Given the description of an element on the screen output the (x, y) to click on. 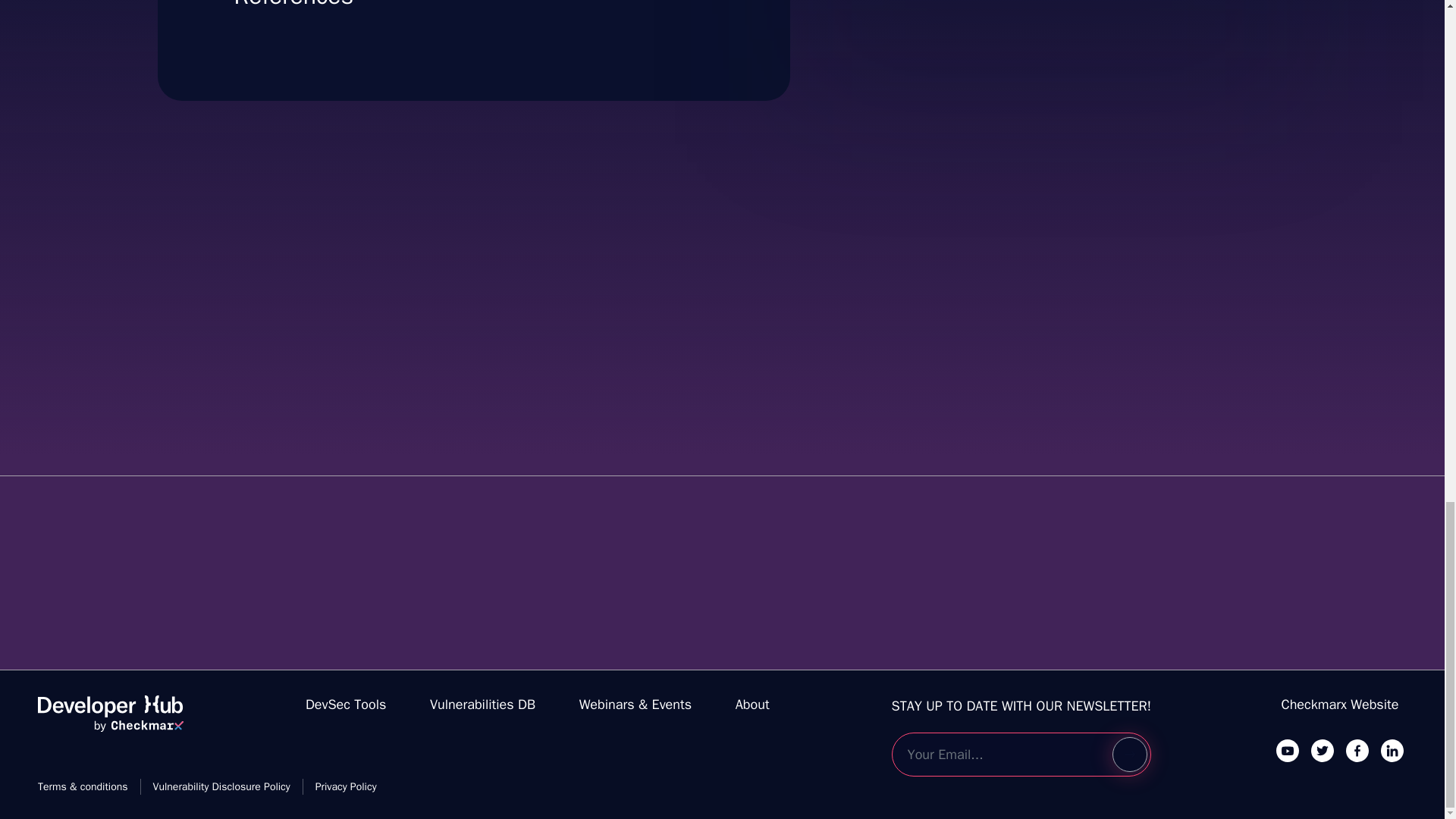
Follow us on Linkedin (1391, 750)
Vulnerabilities DB (482, 704)
Follow us on Twitter (1322, 750)
Submit form (1129, 754)
Follow us on Youtube (1287, 750)
Follow us on Facebook (1356, 750)
Checkmarx Website (1340, 704)
DevSec Tools (1037, 12)
About (345, 704)
Goto website home page (752, 704)
Vulnerability Disclosure Policy (110, 720)
Privacy Policy (220, 786)
